Given the description of an element on the screen output the (x, y) to click on. 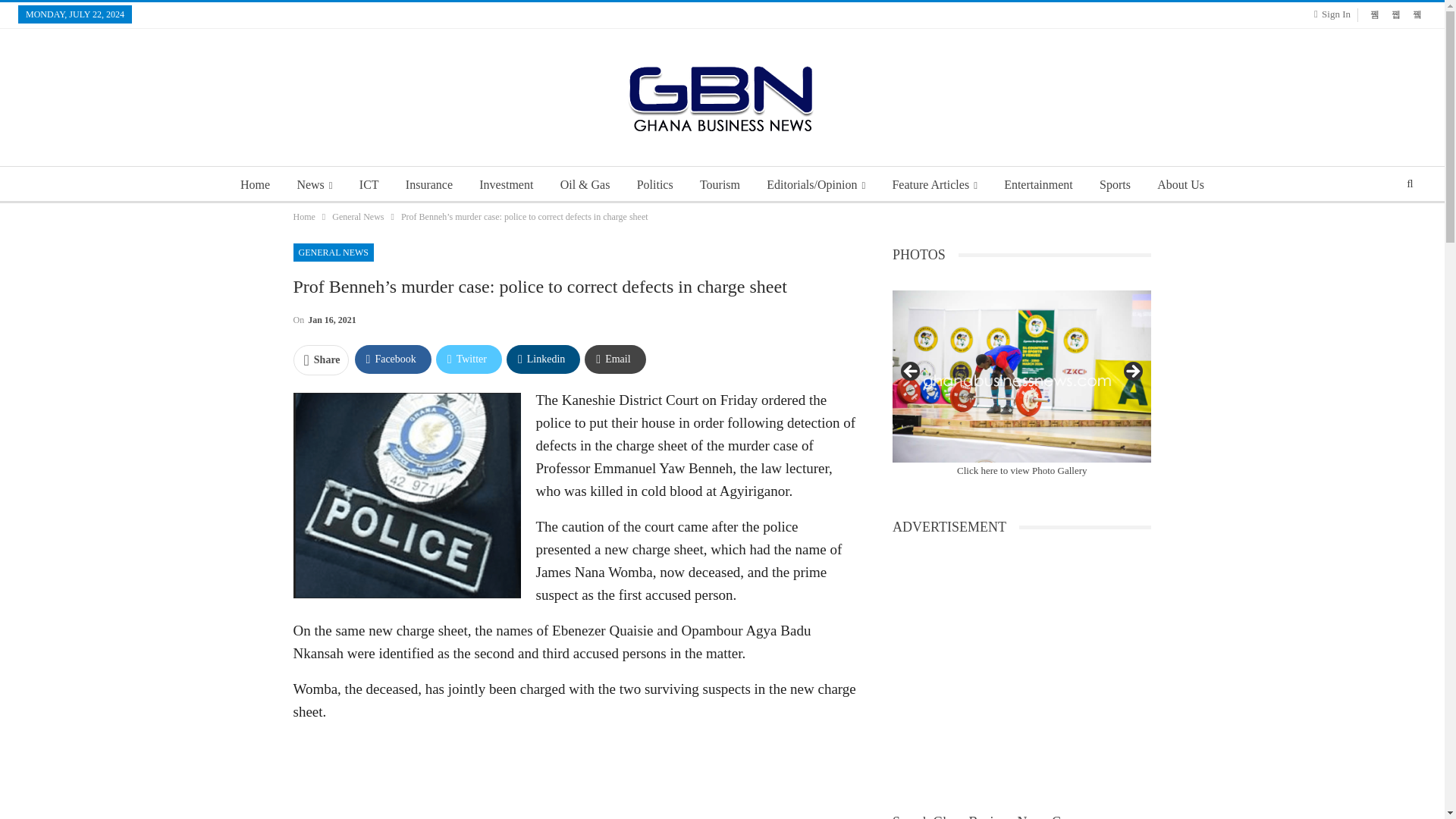
Insurance (428, 185)
Investment (505, 185)
Home (303, 216)
General News (357, 216)
Home (255, 185)
ICT (369, 185)
Sports (1115, 185)
About Us (1180, 185)
Advertisement (574, 777)
Twitter (468, 358)
Entertainment (1037, 185)
News (313, 185)
Email (615, 358)
Linkedin (542, 358)
Facebook (392, 358)
